Given the description of an element on the screen output the (x, y) to click on. 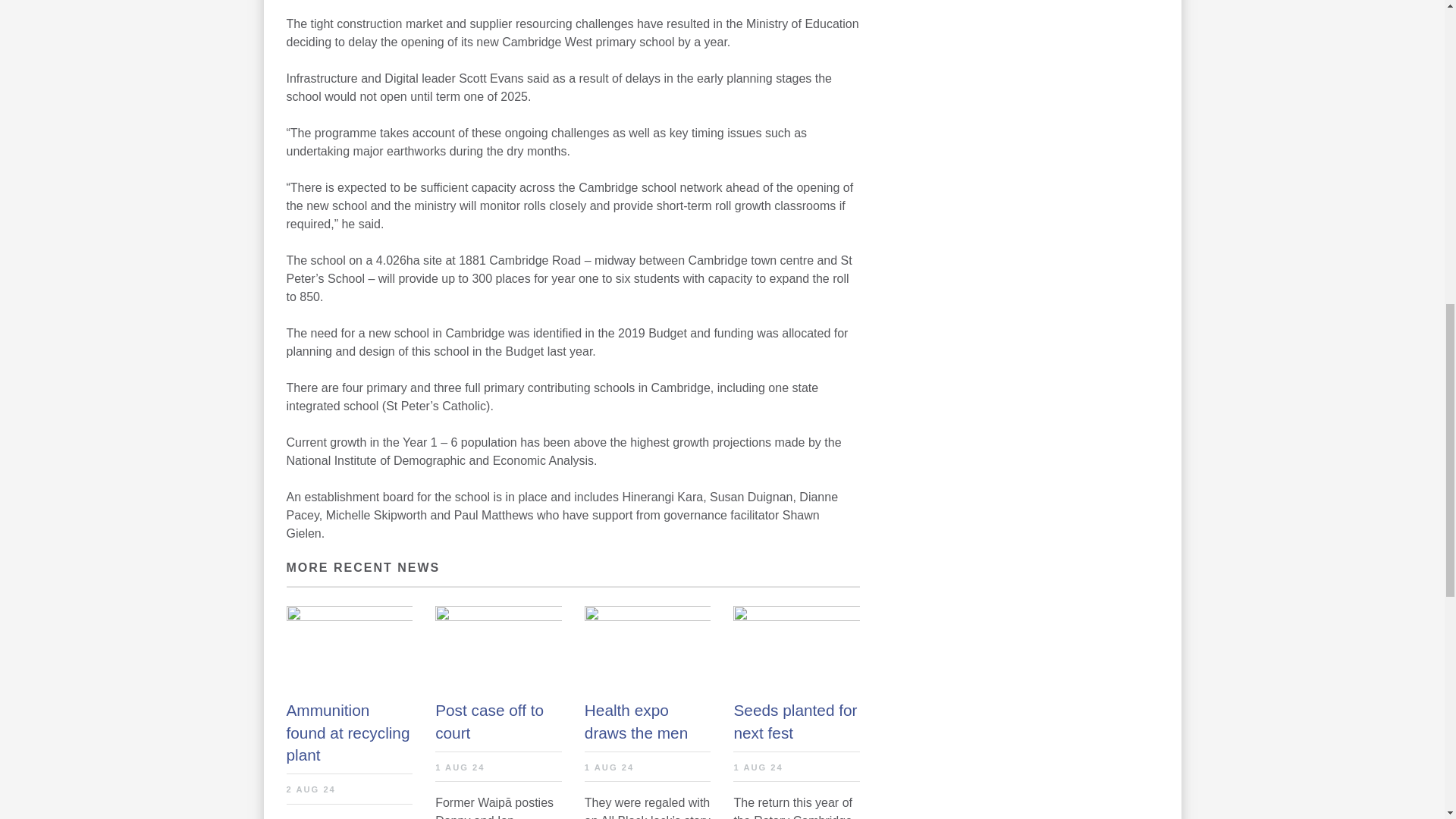
Post case off to court (498, 720)
Seeds planted for next fest (796, 720)
Ammunition found at recycling plant (349, 731)
Health expo draws the men (648, 720)
